Given the description of an element on the screen output the (x, y) to click on. 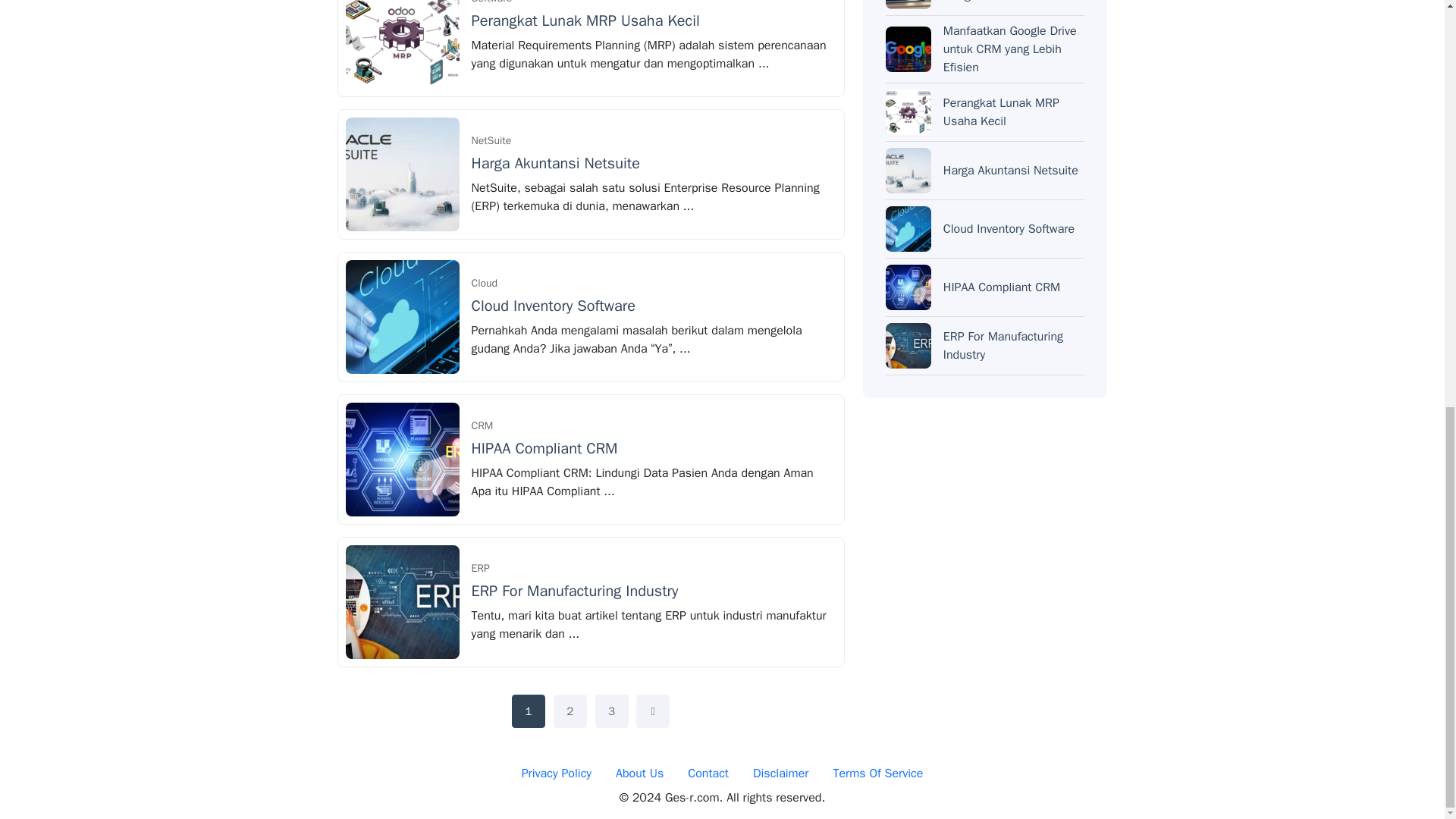
3 (611, 711)
Harga Akuntansi Netsuite (555, 162)
Software (491, 6)
Cloud (484, 283)
ERP For Manufacturing Industry (574, 590)
HIPAA Compliant CRM (544, 447)
Cloud Inventory Software (552, 305)
Perangkat Lunak MRP Usaha Kecil (585, 20)
2 (569, 711)
NetSuite (491, 140)
